Given the description of an element on the screen output the (x, y) to click on. 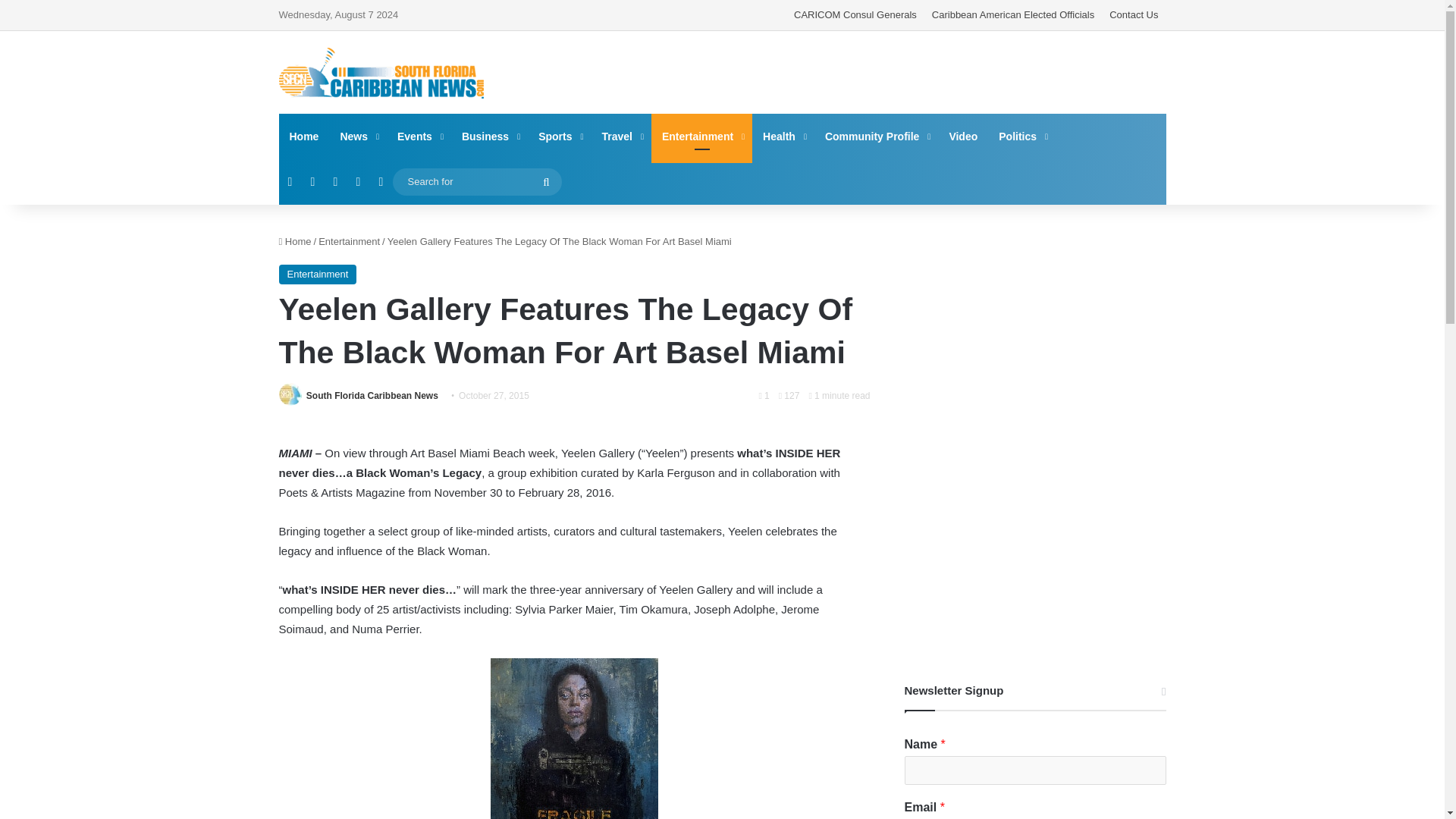
Home (304, 135)
Home (295, 241)
Search for (545, 181)
News (358, 135)
South Florida Caribbean News (371, 395)
Politics (1021, 135)
Entertainment (349, 241)
3rd party ad content (873, 70)
South Florida Caribbean News (381, 72)
Entertainment (317, 274)
